Given the description of an element on the screen output the (x, y) to click on. 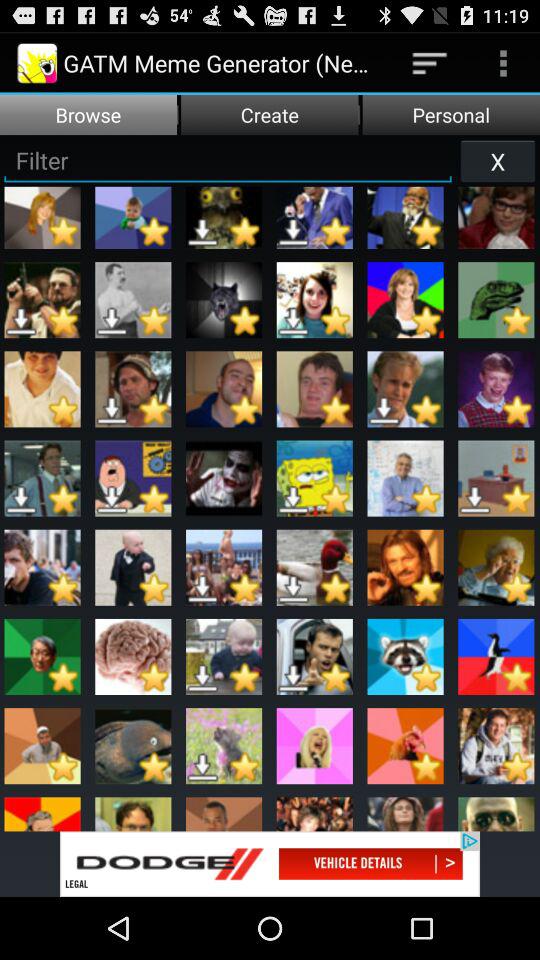
filter memes (228, 160)
